Given the description of an element on the screen output the (x, y) to click on. 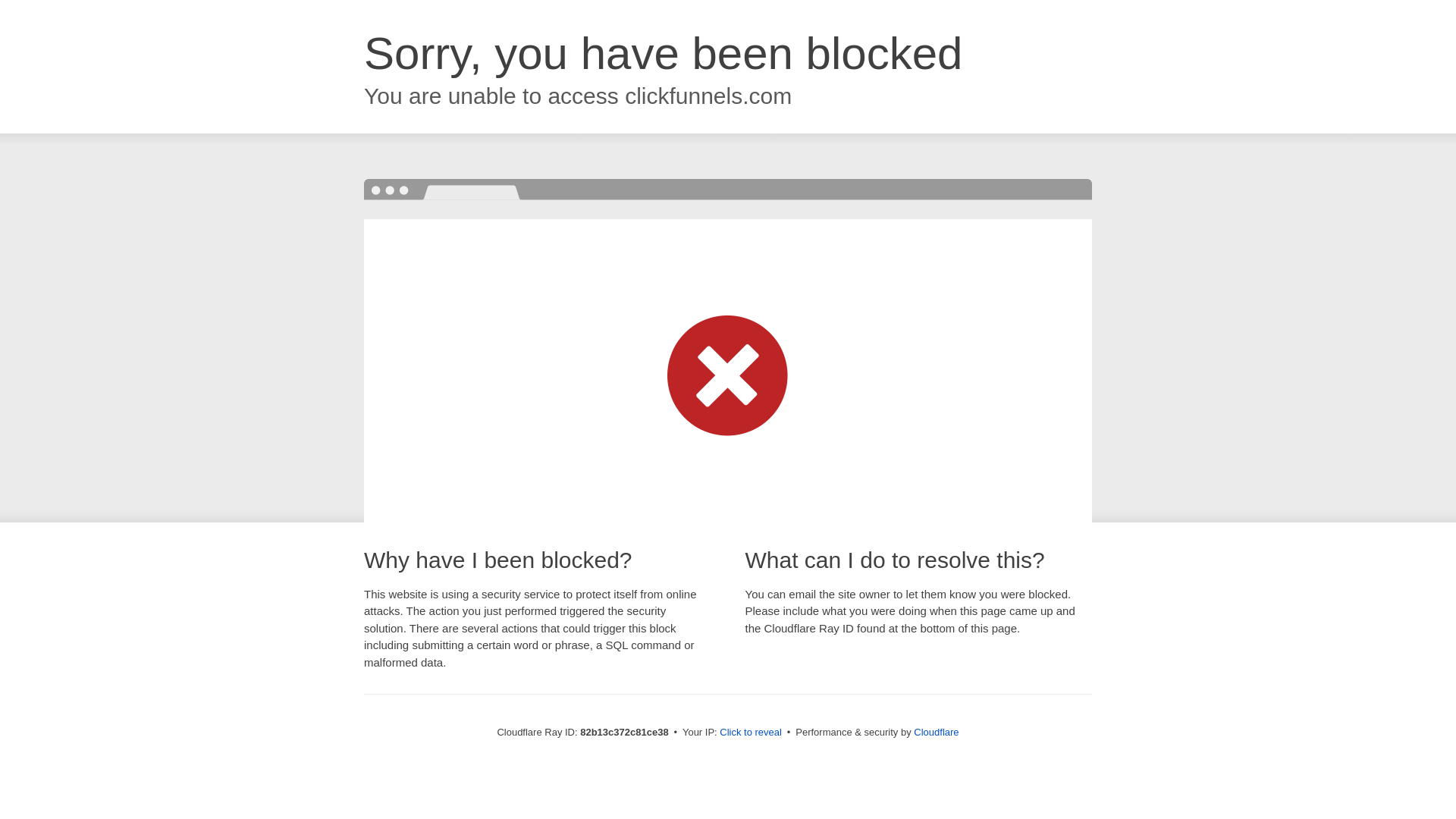
Cloudflare Element type: text (935, 731)
Click to reveal Element type: text (750, 732)
